Given the description of an element on the screen output the (x, y) to click on. 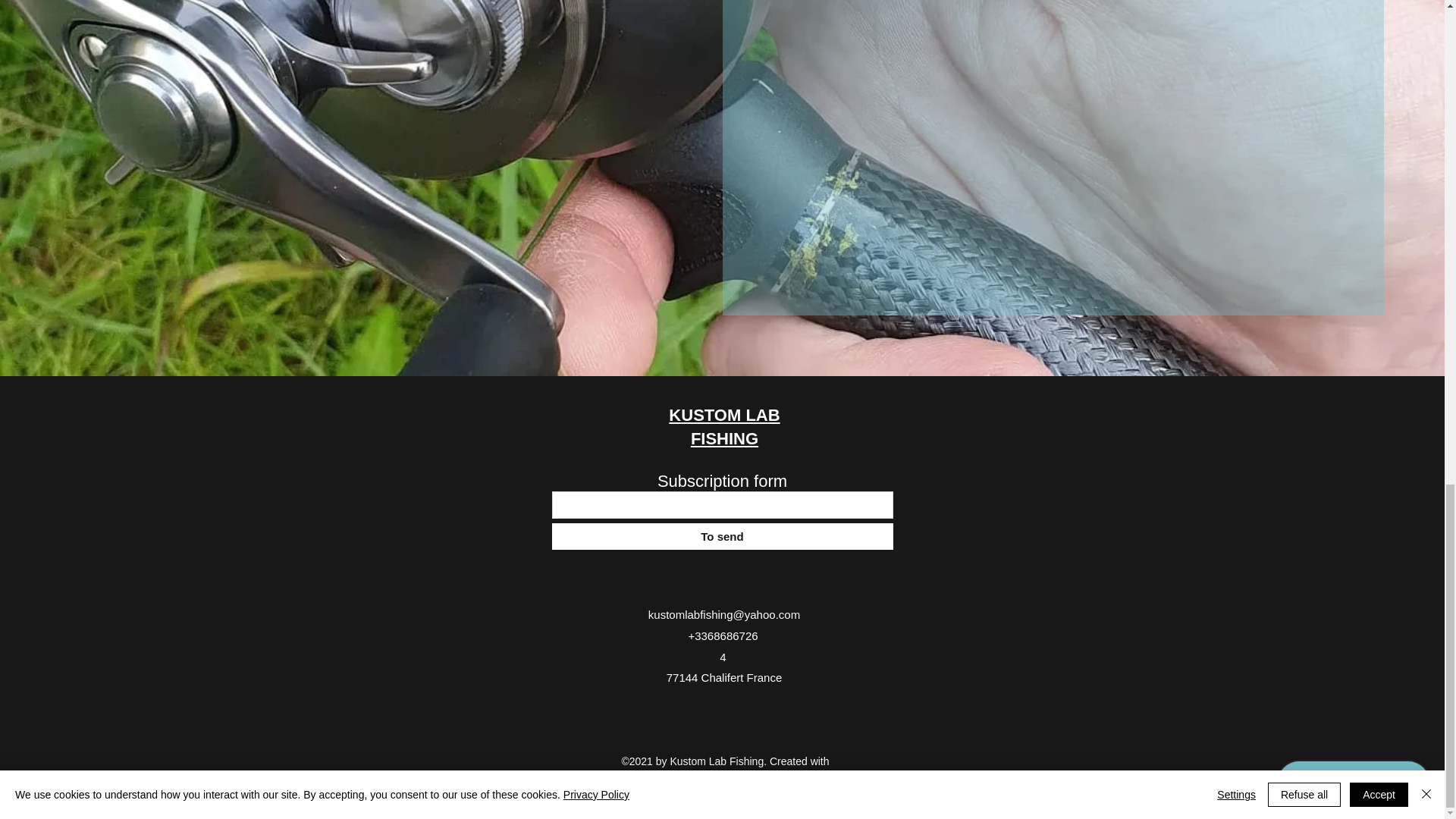
KUSTOM LAB FISHING (723, 426)
To send (722, 536)
